Given the description of an element on the screen output the (x, y) to click on. 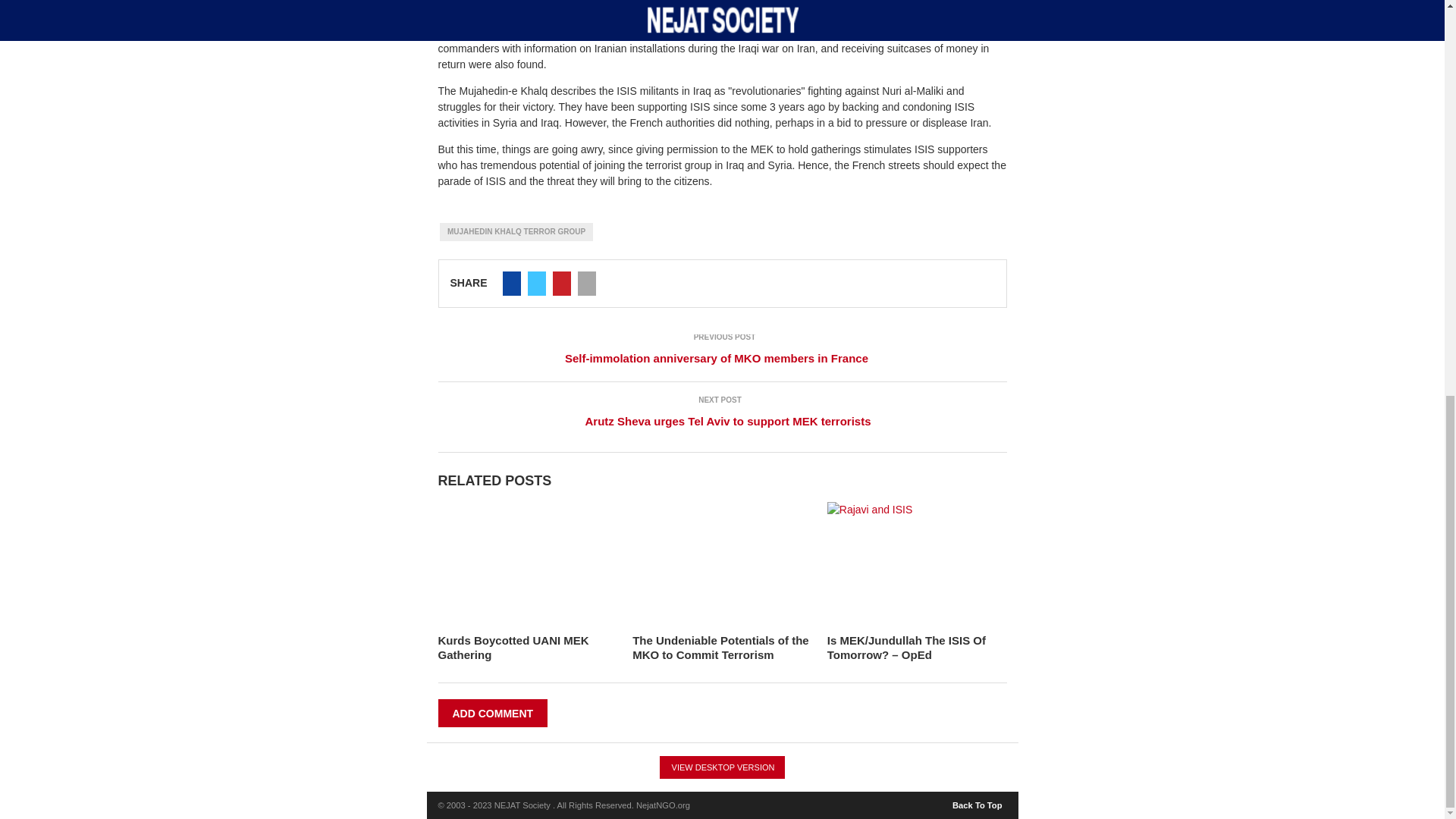
Kurds Boycotted UANI MEK Gathering (513, 647)
Back To Top (979, 802)
Self-immolation anniversary of MKO members in France (722, 358)
ADD COMMENT (493, 713)
MUJAHEDIN KHALQ TERROR GROUP (515, 231)
VIEW DESKTOP VERSION (722, 766)
The Undeniable Potentials of the MKO to Commit Terrorism (720, 647)
Arutz Sheva urges Tel Aviv to support MEK terrorists (722, 421)
